Given the description of an element on the screen output the (x, y) to click on. 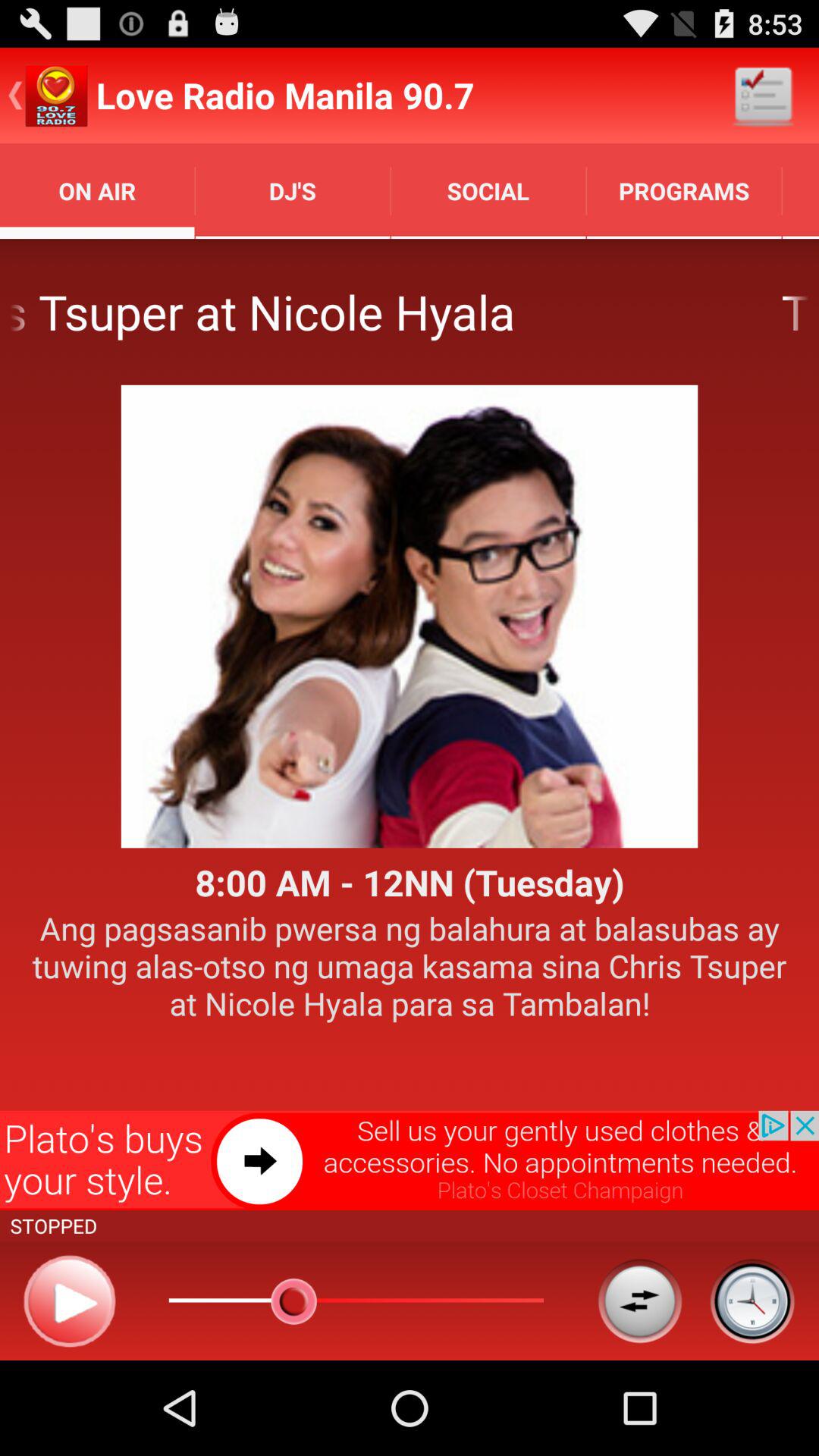
open advertising (409, 1160)
